Given the description of an element on the screen output the (x, y) to click on. 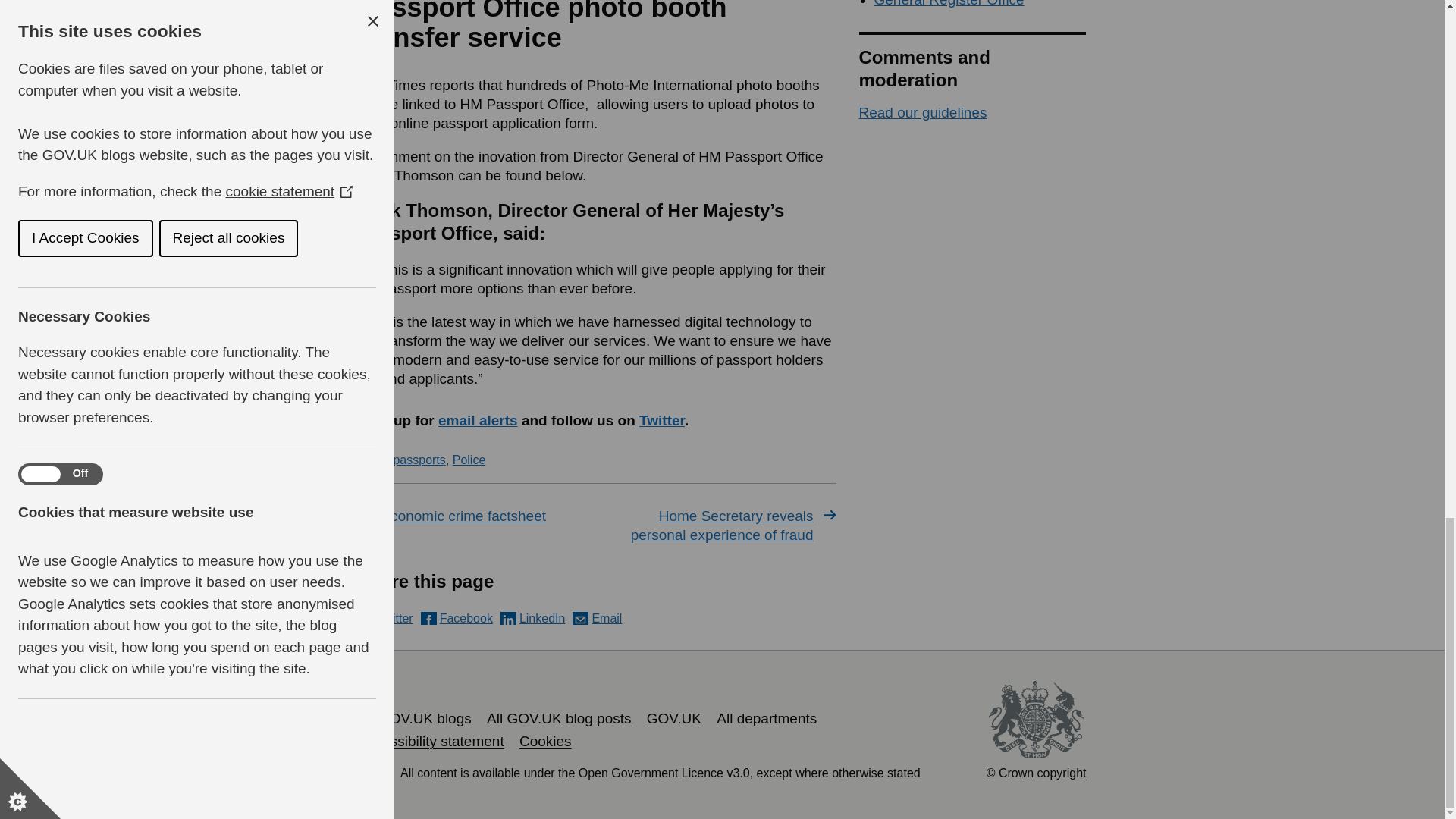
passports (419, 459)
Email (596, 617)
Economic crime factsheet (475, 515)
Police (469, 459)
email alerts (478, 420)
Twitter (385, 617)
Twitter (661, 420)
Home Secretary reveals personal experience of fraud (718, 525)
LinkedIn (533, 617)
Facebook (456, 617)
